Given the description of an element on the screen output the (x, y) to click on. 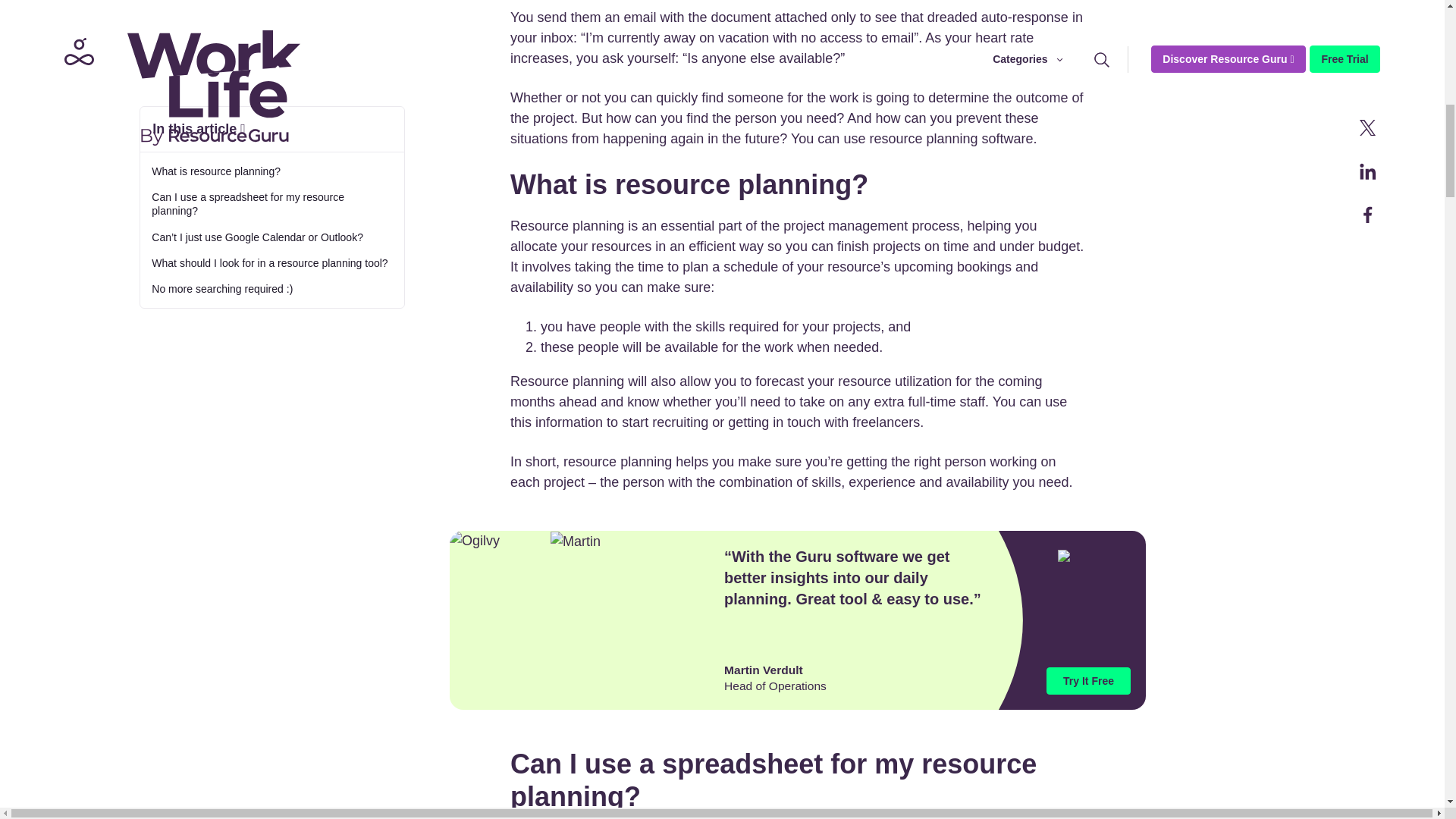
What is resource planning? (271, 12)
Can I use a spreadsheet for my resource planning? (271, 45)
What should I look for in a resource planning tool? (271, 104)
What should I look for in a resource planning tool? (271, 104)
What is resource planning? (271, 12)
Try It Free (1088, 680)
Can I use a spreadsheet for my resource planning? (271, 45)
